Given the description of an element on the screen output the (x, y) to click on. 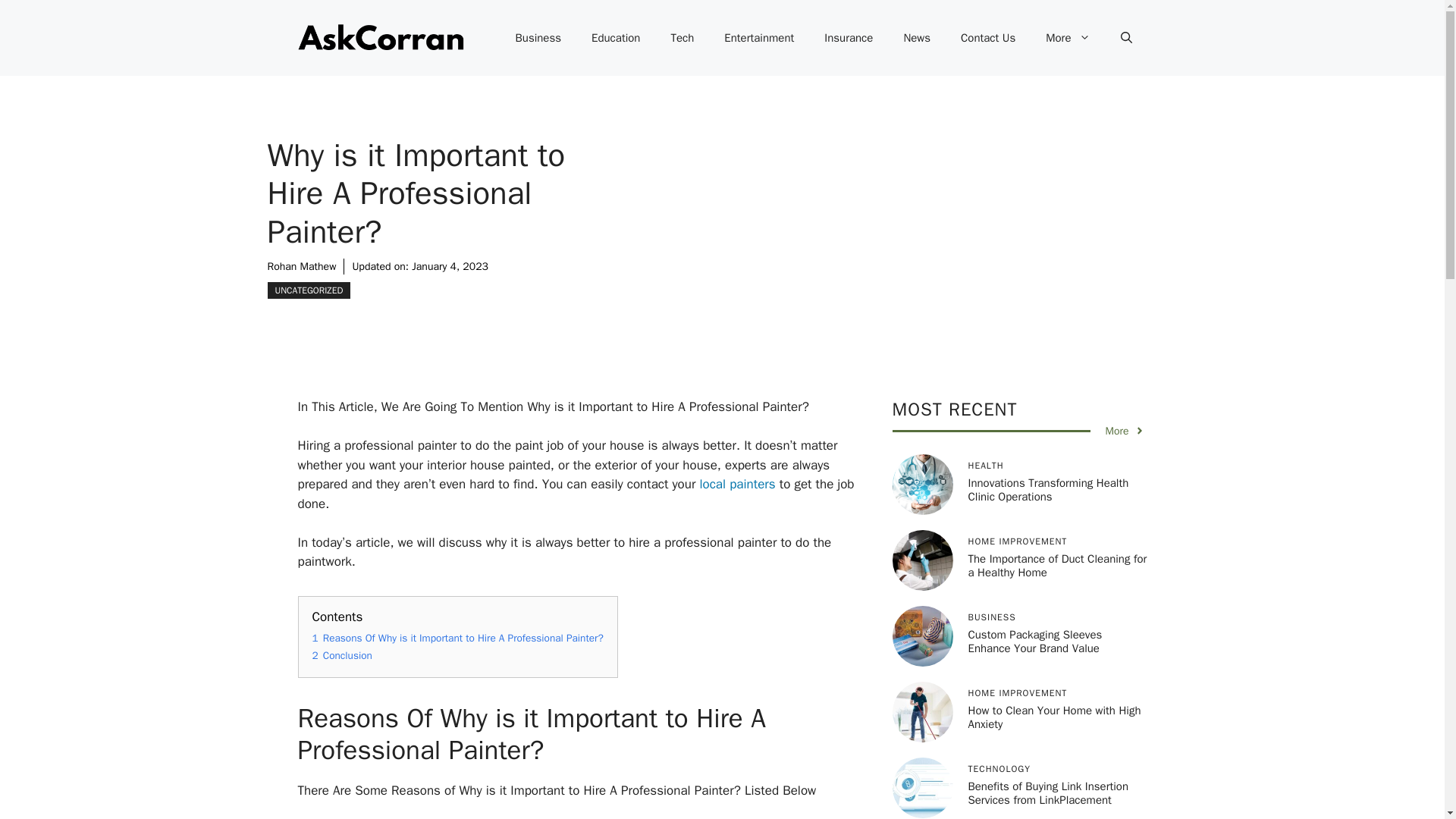
Business (538, 37)
More (1124, 430)
Tech (682, 37)
Insurance (848, 37)
Contact Us (987, 37)
Education (615, 37)
UNCATEGORIZED (308, 289)
2 Conclusion (342, 655)
local painters (734, 483)
Rohan Mathew (301, 266)
More (1067, 37)
Entertainment (759, 37)
The Importance of Duct Cleaning for a Healthy Home (1057, 565)
Innovations Transforming Health Clinic Operations (1048, 489)
